Given the description of an element on the screen output the (x, y) to click on. 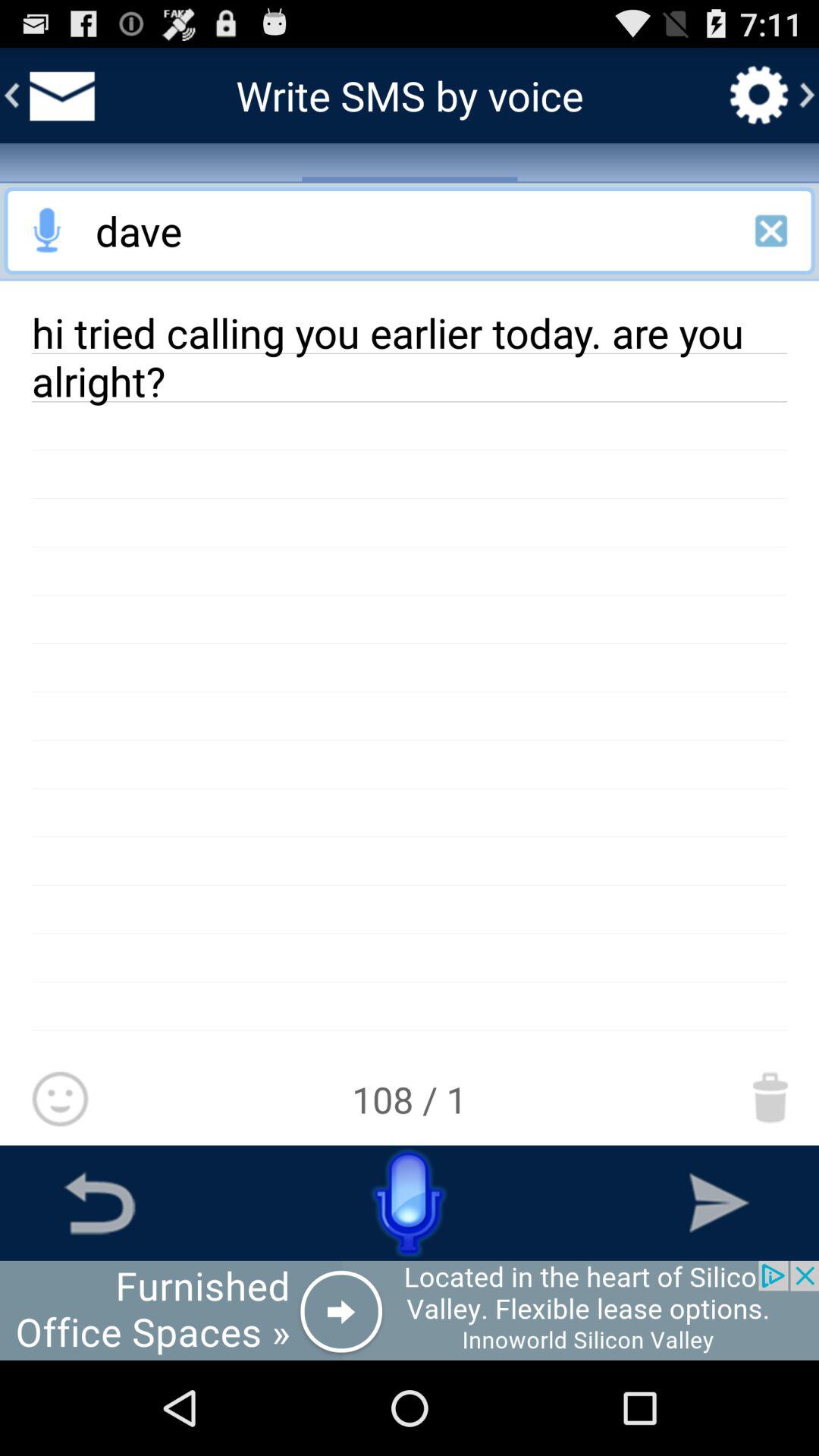
send message (719, 1202)
